Given the description of an element on the screen output the (x, y) to click on. 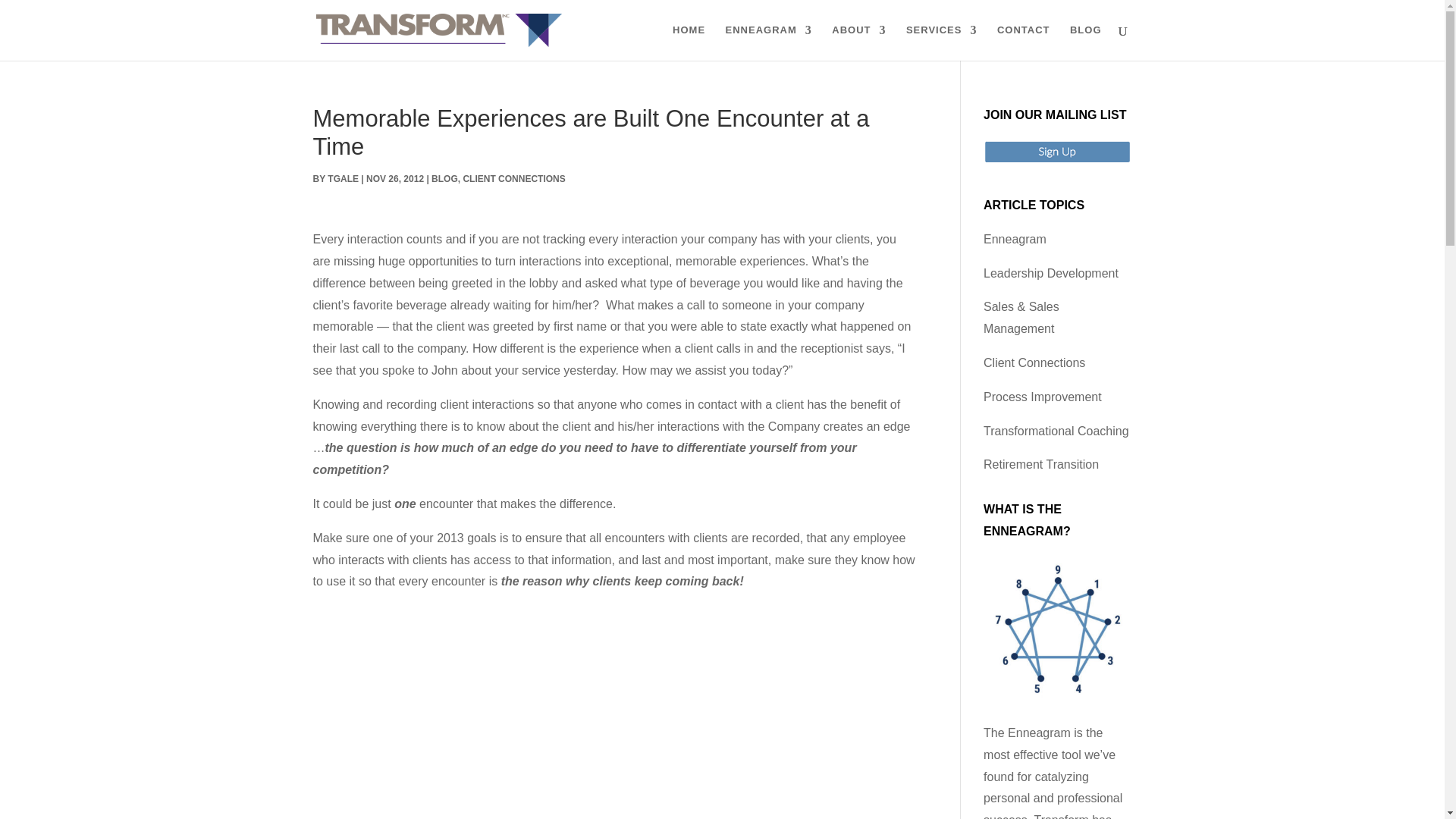
SERVICES (940, 42)
Leadership Development (1051, 273)
HOME (688, 42)
ENNEAGRAM (768, 42)
Client Connections (1034, 362)
Process Improvement (1043, 396)
CLIENT CONNECTIONS (513, 178)
Enneagram (1015, 238)
BLOG (444, 178)
CONTACT (1023, 42)
